Given the description of an element on the screen output the (x, y) to click on. 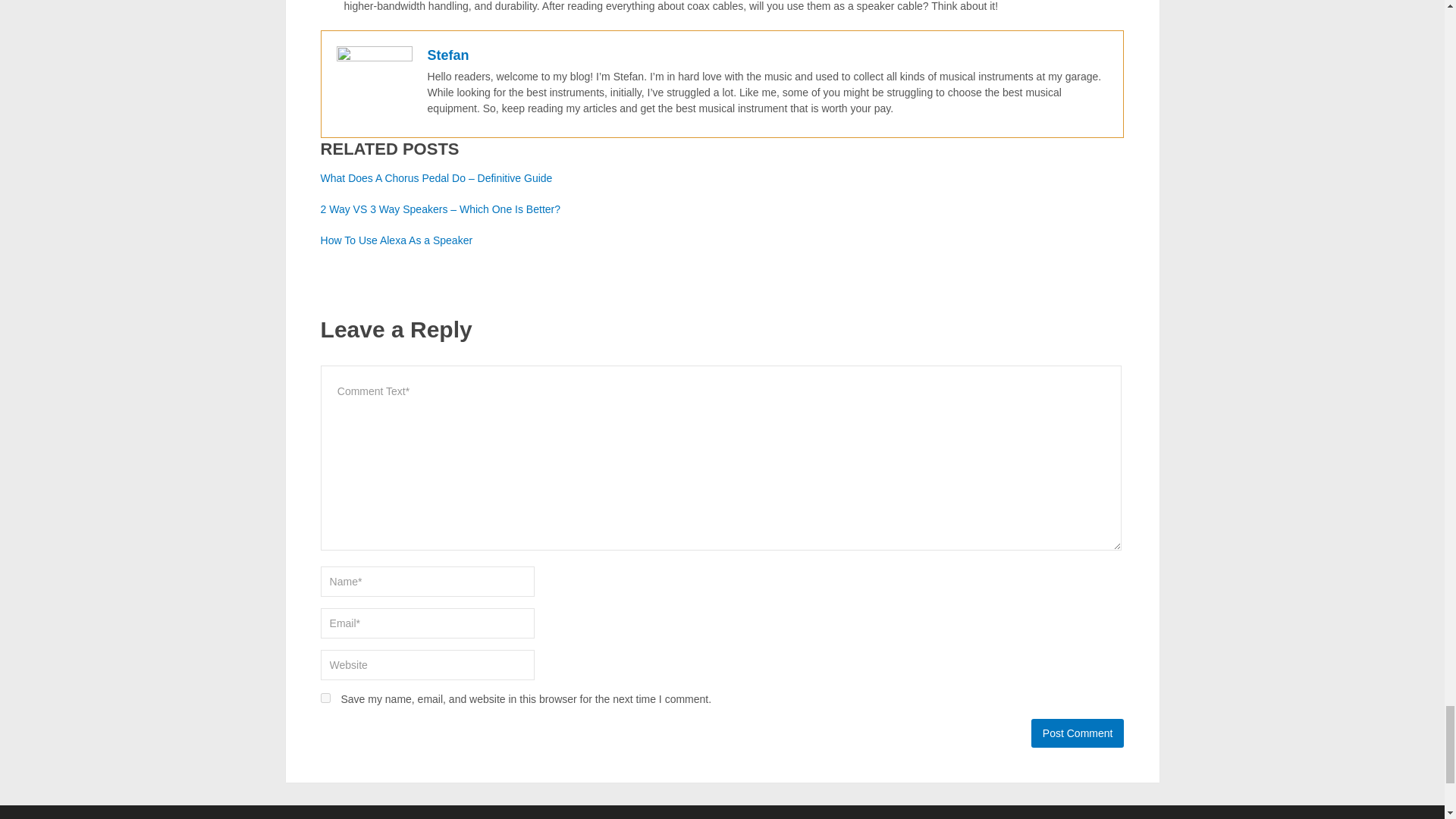
Post Comment (1077, 733)
Post Comment (1077, 733)
yes (325, 697)
Stefan (448, 55)
How To Use Alexa As a Speaker (396, 240)
